Given the description of an element on the screen output the (x, y) to click on. 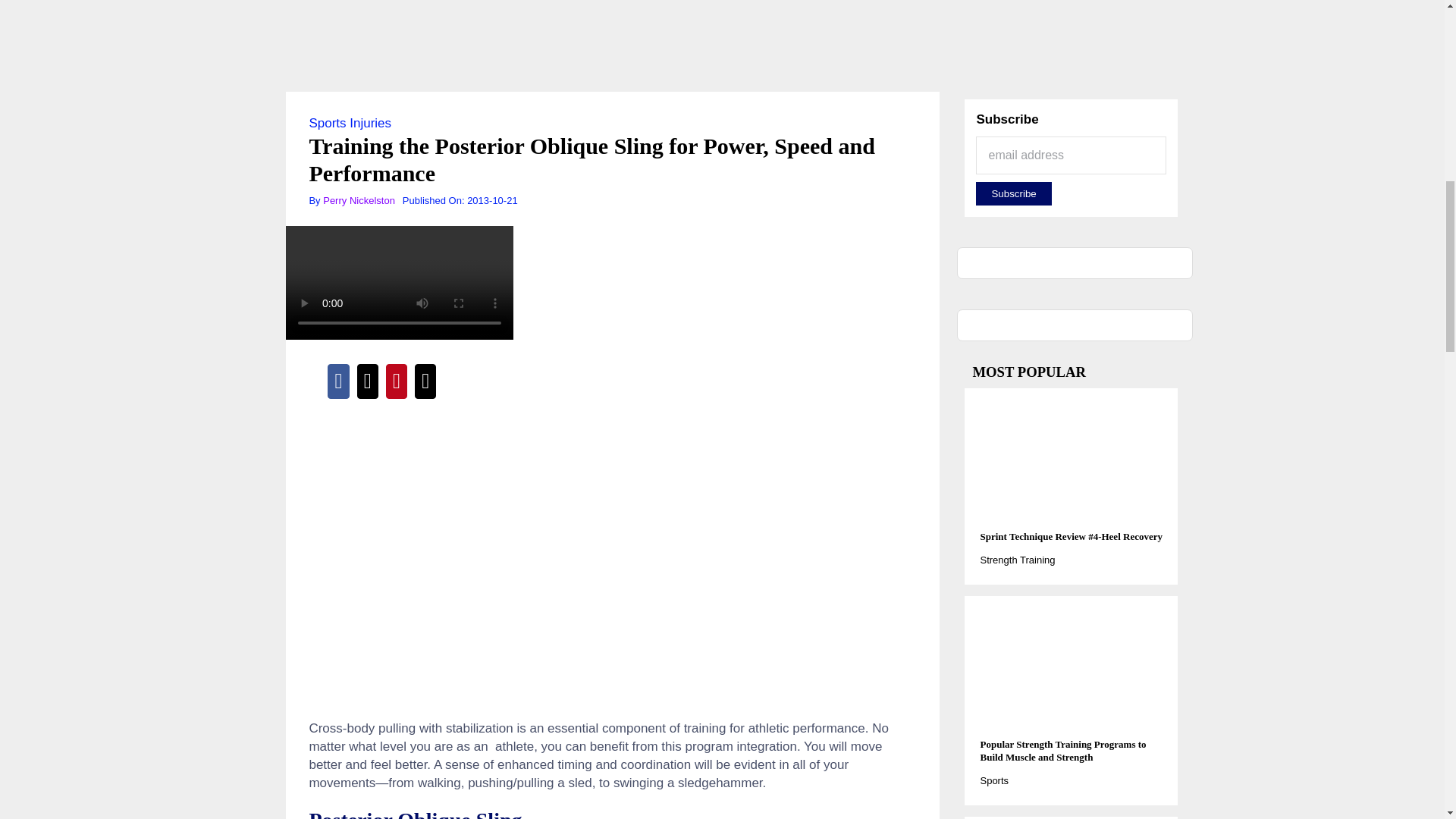
Sports Injuries (349, 123)
Posts by Perry Nickelston (358, 200)
Subscribe (1013, 193)
